Given the description of an element on the screen output the (x, y) to click on. 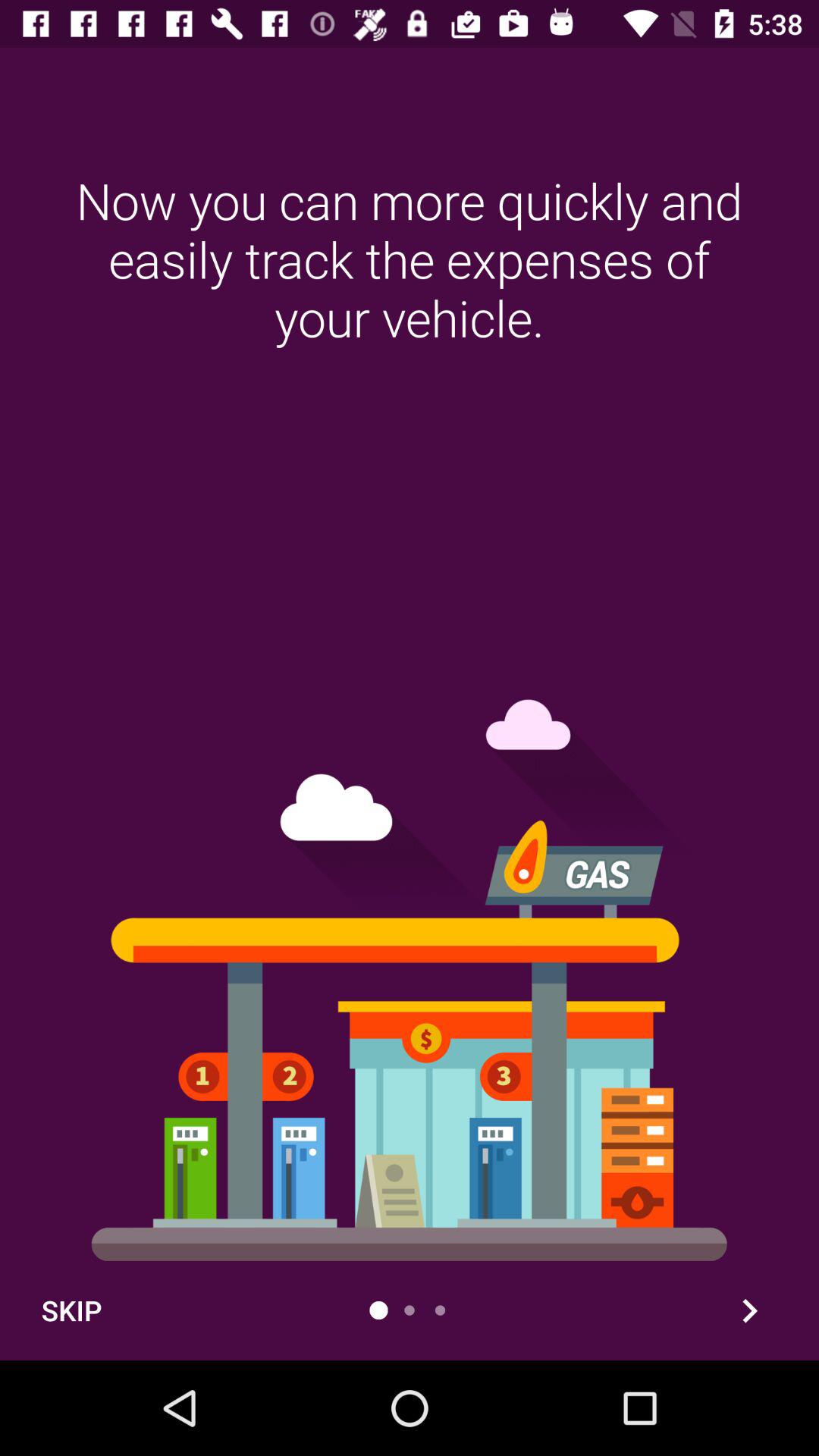
go to the next (749, 1310)
